Given the description of an element on the screen output the (x, y) to click on. 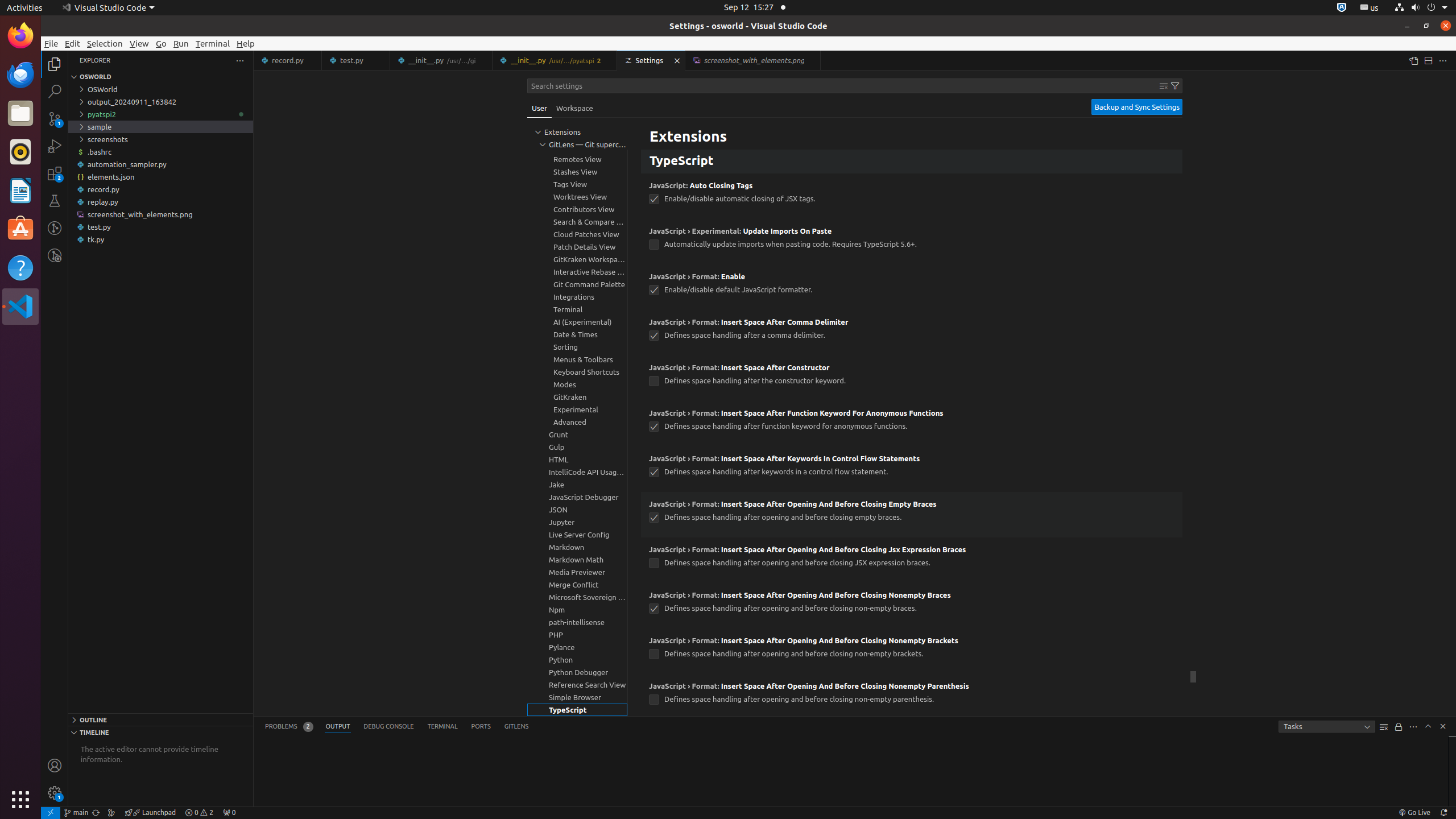
Simple Browser, group Element type: tree-item (577, 697)
